Given the description of an element on the screen output the (x, y) to click on. 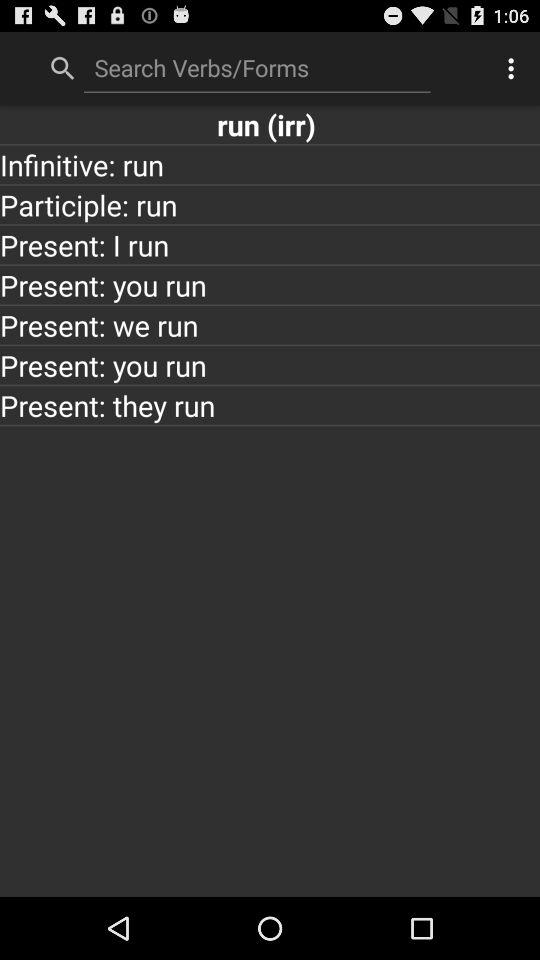
turn off the icon above run (irr)  app (513, 67)
